Given the description of an element on the screen output the (x, y) to click on. 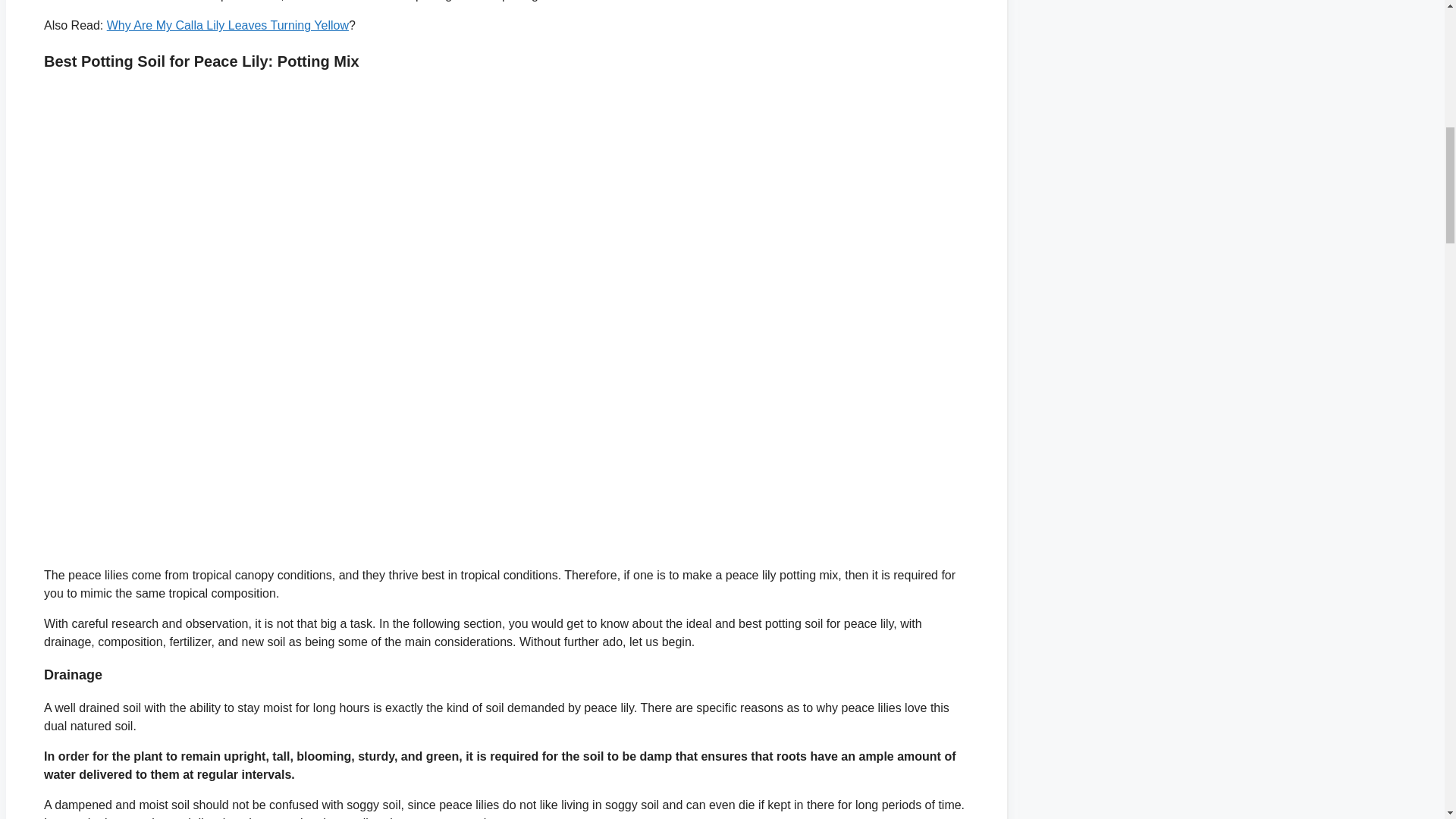
Why Are My Calla Lily Leaves Turning Yellow? (227, 24)
Scroll back to top (1406, 720)
Why Are My Calla Lily Leaves Turning Yellow (227, 24)
